Given the description of an element on the screen output the (x, y) to click on. 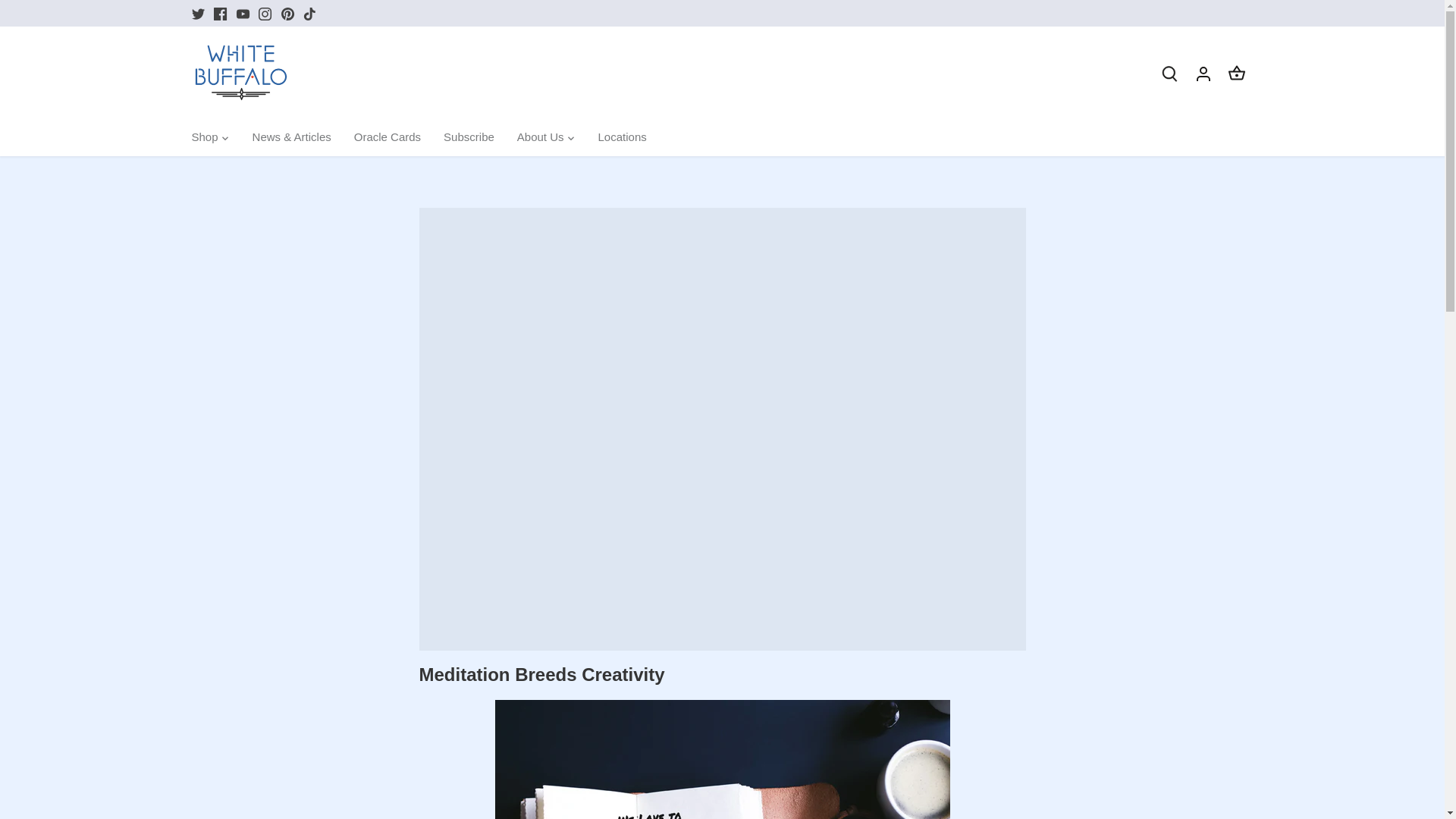
Pinterest (287, 13)
Shop (209, 137)
Youtube (241, 13)
Instagram (265, 13)
Twitter (196, 13)
Facebook (220, 13)
